Given the description of an element on the screen output the (x, y) to click on. 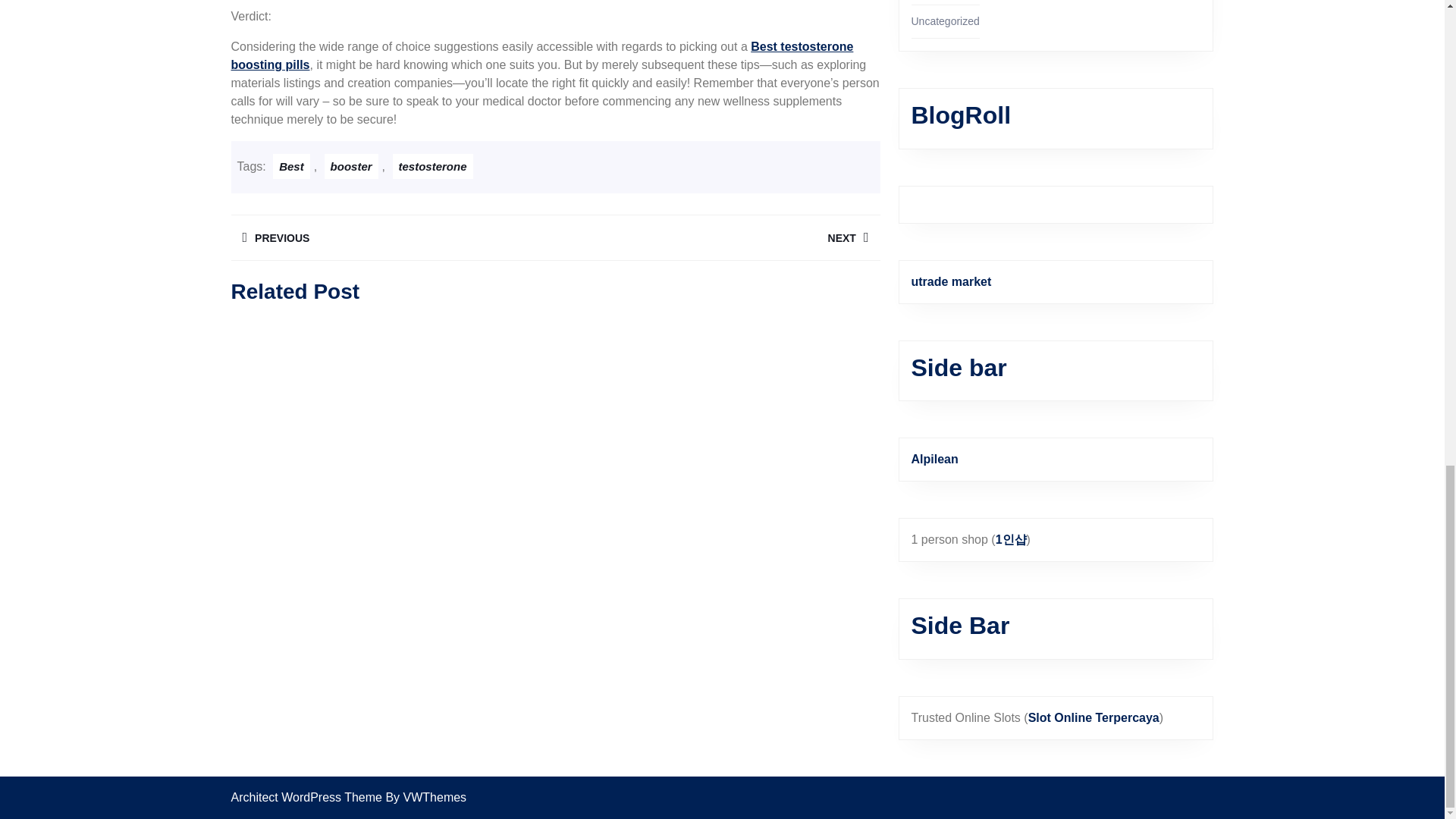
testosterone (392, 237)
Best (433, 166)
Best testosterone boosting pills (291, 166)
booster (716, 237)
